Given the description of an element on the screen output the (x, y) to click on. 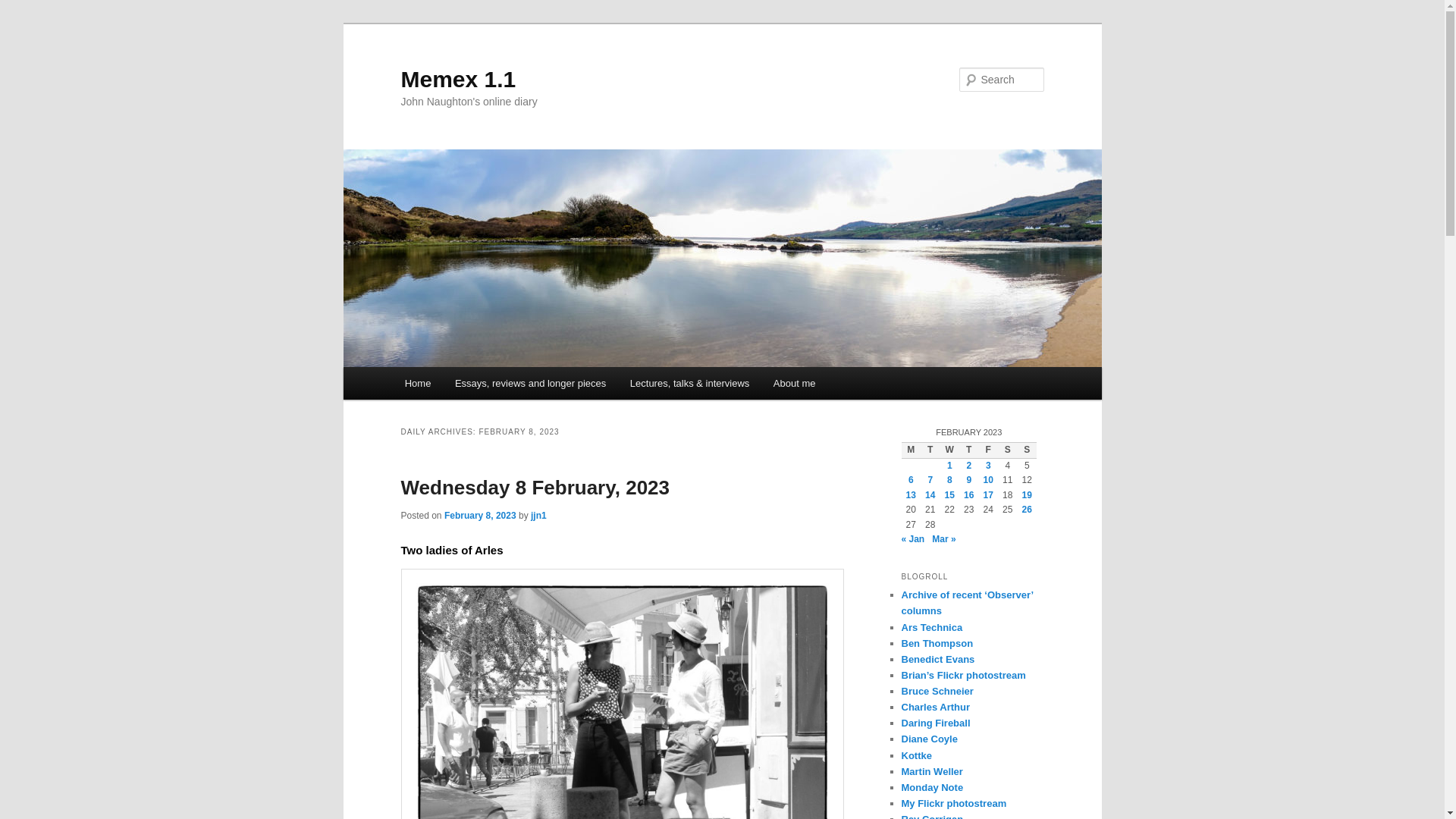
19 (1027, 494)
10 (988, 480)
26 (1027, 509)
Wednesday (949, 450)
Wednesday 8 February, 2023 (534, 486)
Sunday (1026, 450)
16 (968, 494)
14 (929, 494)
jjn1 (539, 515)
Friday (987, 450)
